Given the description of an element on the screen output the (x, y) to click on. 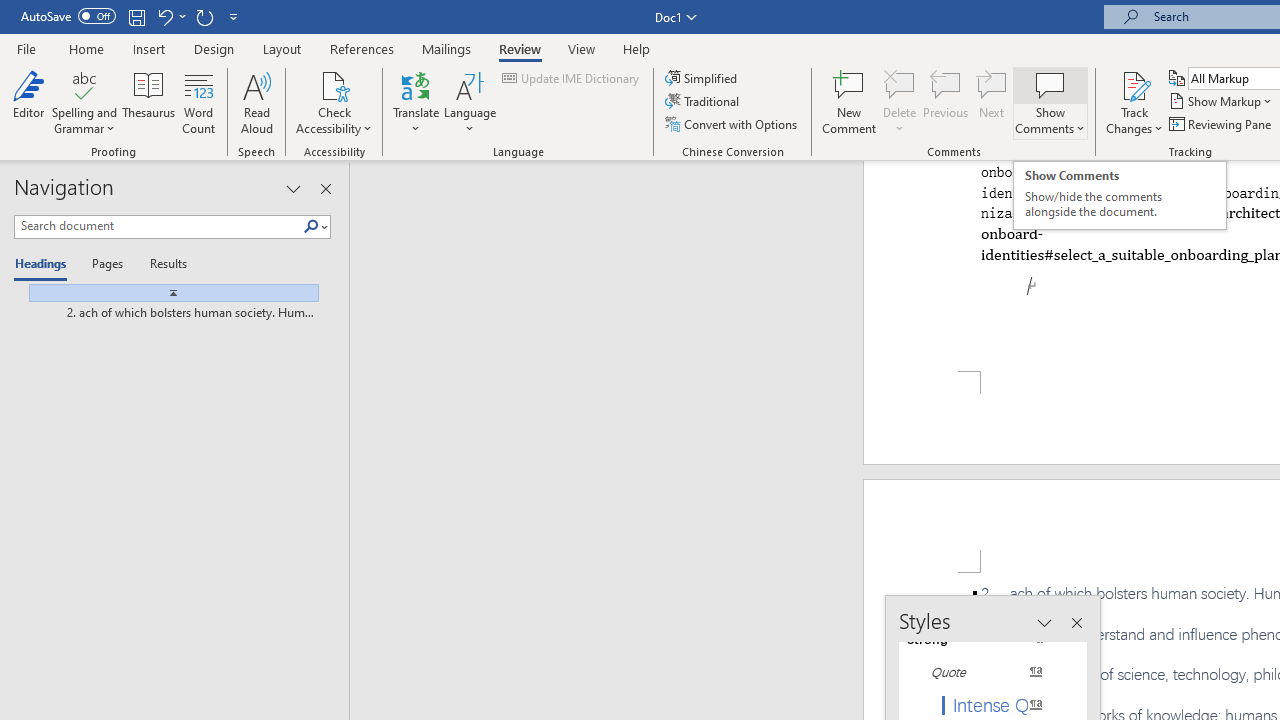
Translate (415, 102)
Undo Style (170, 15)
Thesaurus... (148, 102)
Spelling and Grammar (84, 84)
Language (470, 102)
Traditional (703, 101)
New Comment (849, 102)
